Given the description of an element on the screen output the (x, y) to click on. 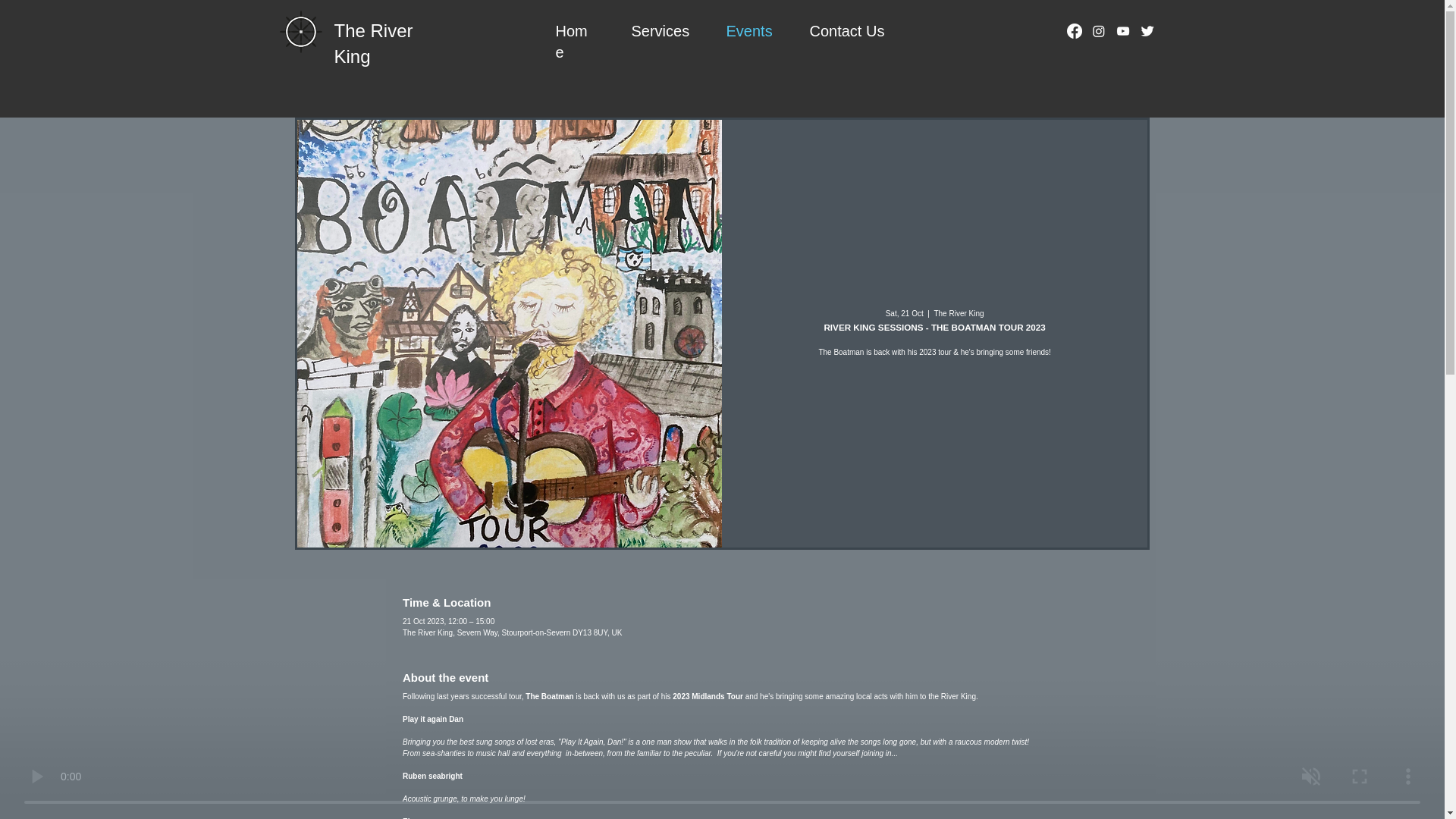
Events (749, 30)
Contact Us (847, 30)
The River King (372, 43)
Services (659, 30)
